Given the description of an element on the screen output the (x, y) to click on. 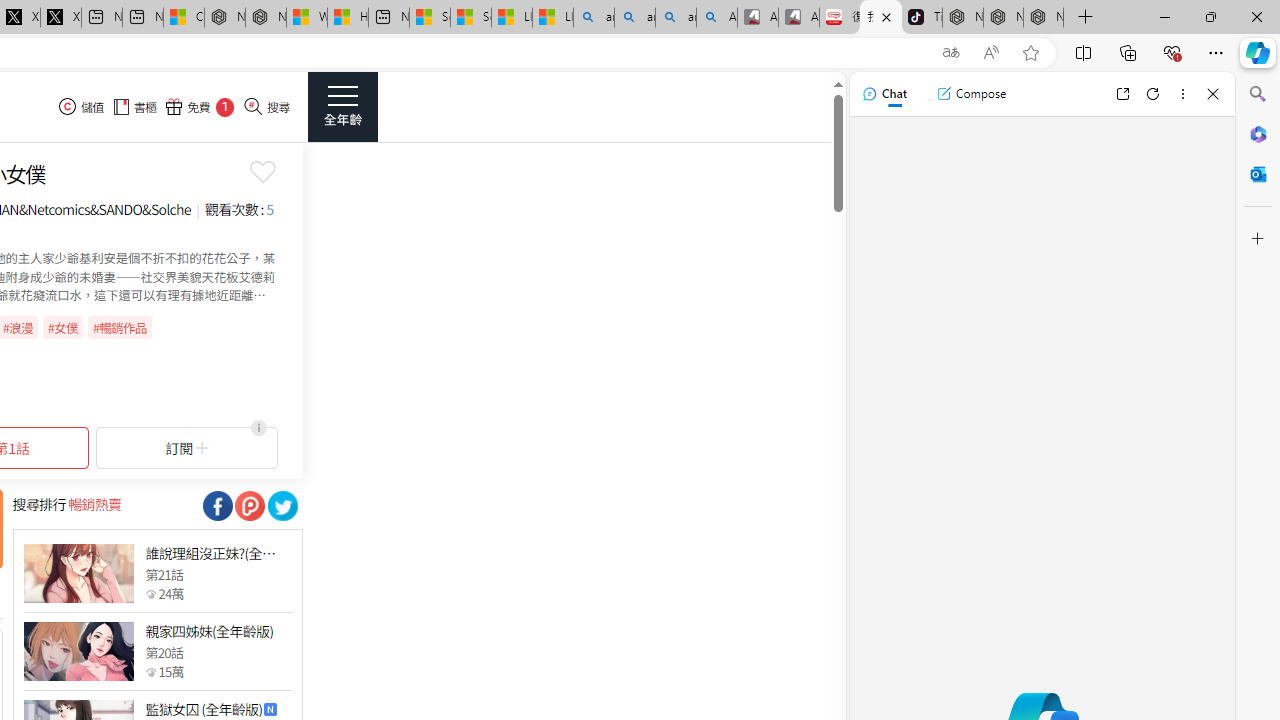
Amazon Echo Robot - Search Images (717, 17)
amazon - Search (634, 17)
Open link in new tab (1122, 93)
Wildlife - MSN (306, 17)
